Given the description of an element on the screen output the (x, y) to click on. 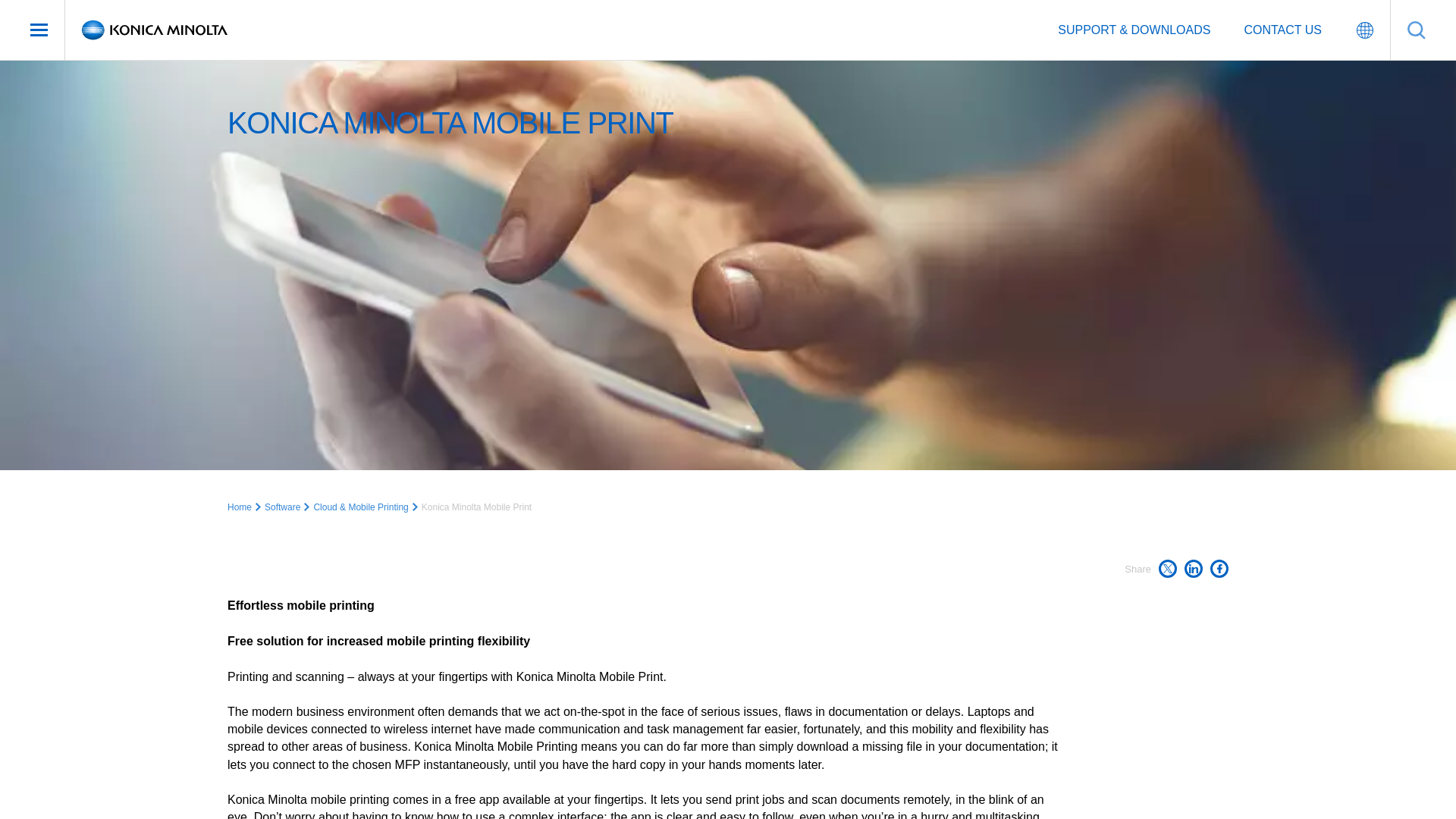
Search (1416, 30)
CONTACT US (1282, 30)
Contact us (1282, 30)
